Given the description of an element on the screen output the (x, y) to click on. 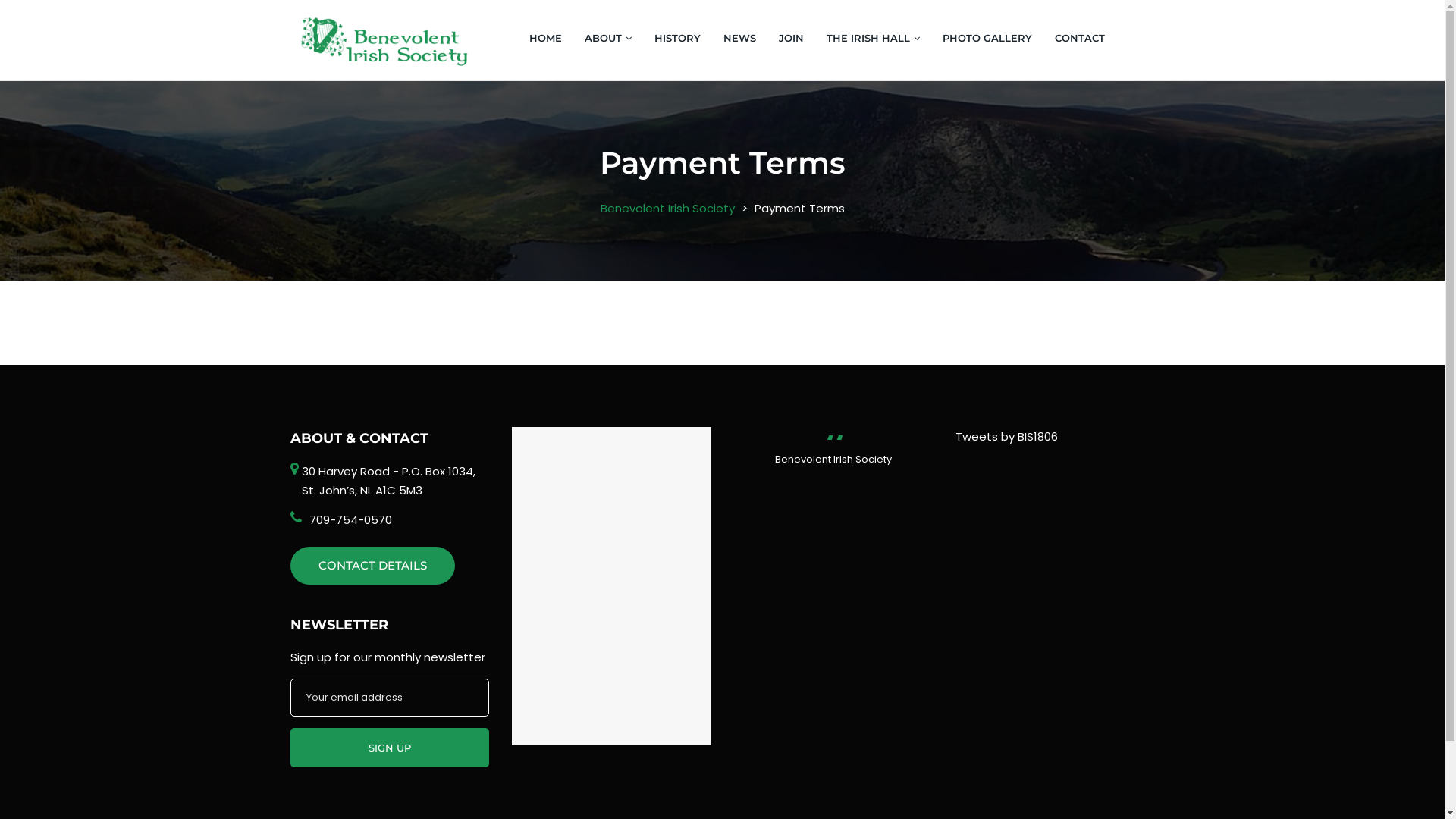
Tweets by BIS1806 Element type: text (1006, 436)
Benevolent Irish Society Element type: text (833, 458)
NEWS Element type: text (739, 37)
Benevolent Irish Society Element type: text (667, 208)
JOIN Element type: text (791, 37)
CONTACT Element type: text (1073, 37)
PHOTO GALLERY Element type: text (987, 37)
THE IRISH HALL Element type: text (873, 37)
ABOUT Element type: text (608, 37)
HISTORY Element type: text (677, 37)
HOME Element type: text (551, 37)
CONTACT DETAILS Element type: text (371, 565)
709-754-0570 Element type: text (350, 520)
Sign Up Element type: text (389, 747)
